Given the description of an element on the screen output the (x, y) to click on. 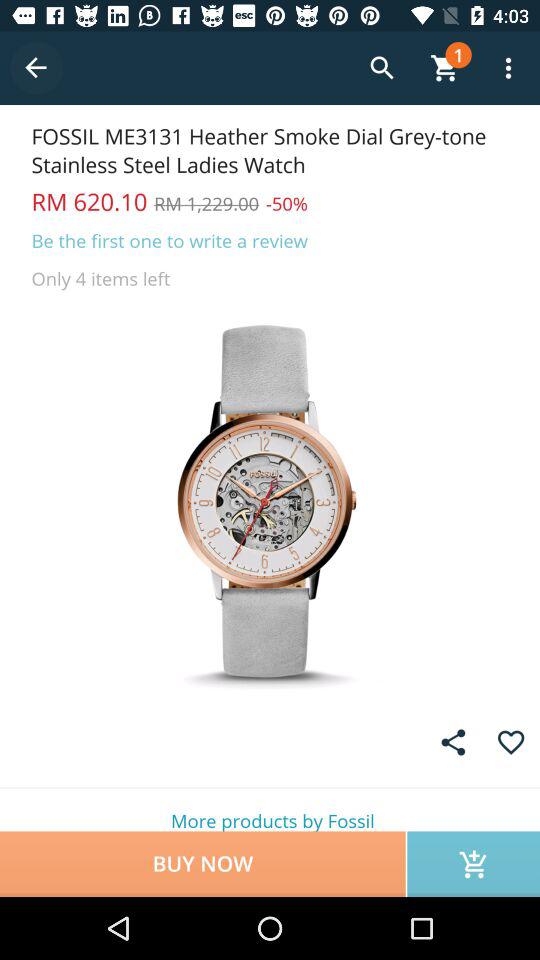
turn off the icon below only 4 items (269, 500)
